Given the description of an element on the screen output the (x, y) to click on. 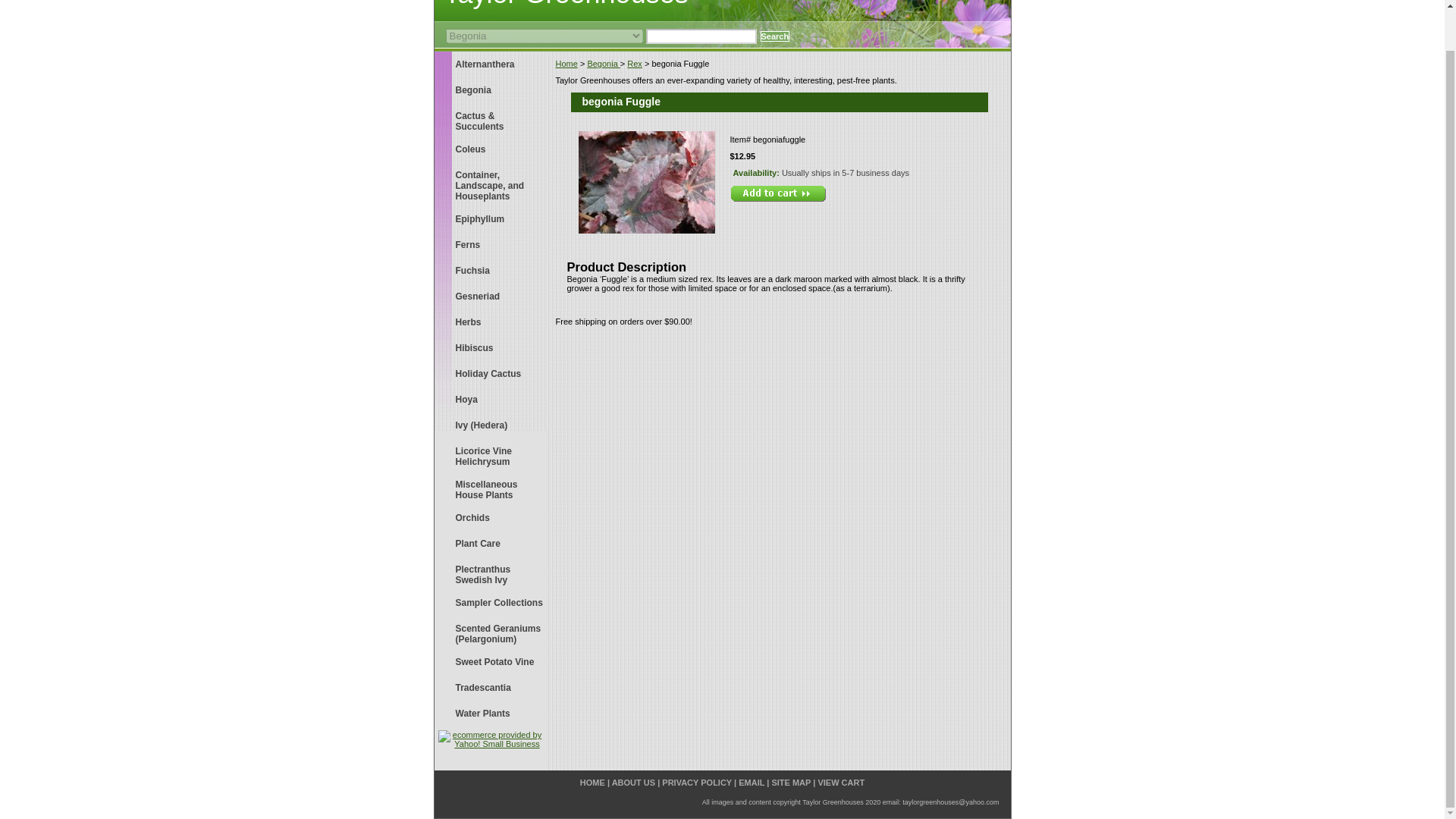
Miscellaneous House Plants (490, 488)
Search (774, 36)
Orchids (490, 517)
Orchids (490, 517)
Container, Landscape, and Houseplants (490, 184)
Add to cart (777, 193)
Fuchsia (490, 270)
Taylor Greenhouses (622, 6)
Holiday Cactus (490, 373)
Alternanthera (490, 63)
Hoya (490, 399)
Sweet Potato Vine (490, 661)
Licorice Vine Helichrysum (490, 454)
Container, Landscape, and Houseplants (490, 184)
Tradescantia (490, 687)
